Given the description of an element on the screen output the (x, y) to click on. 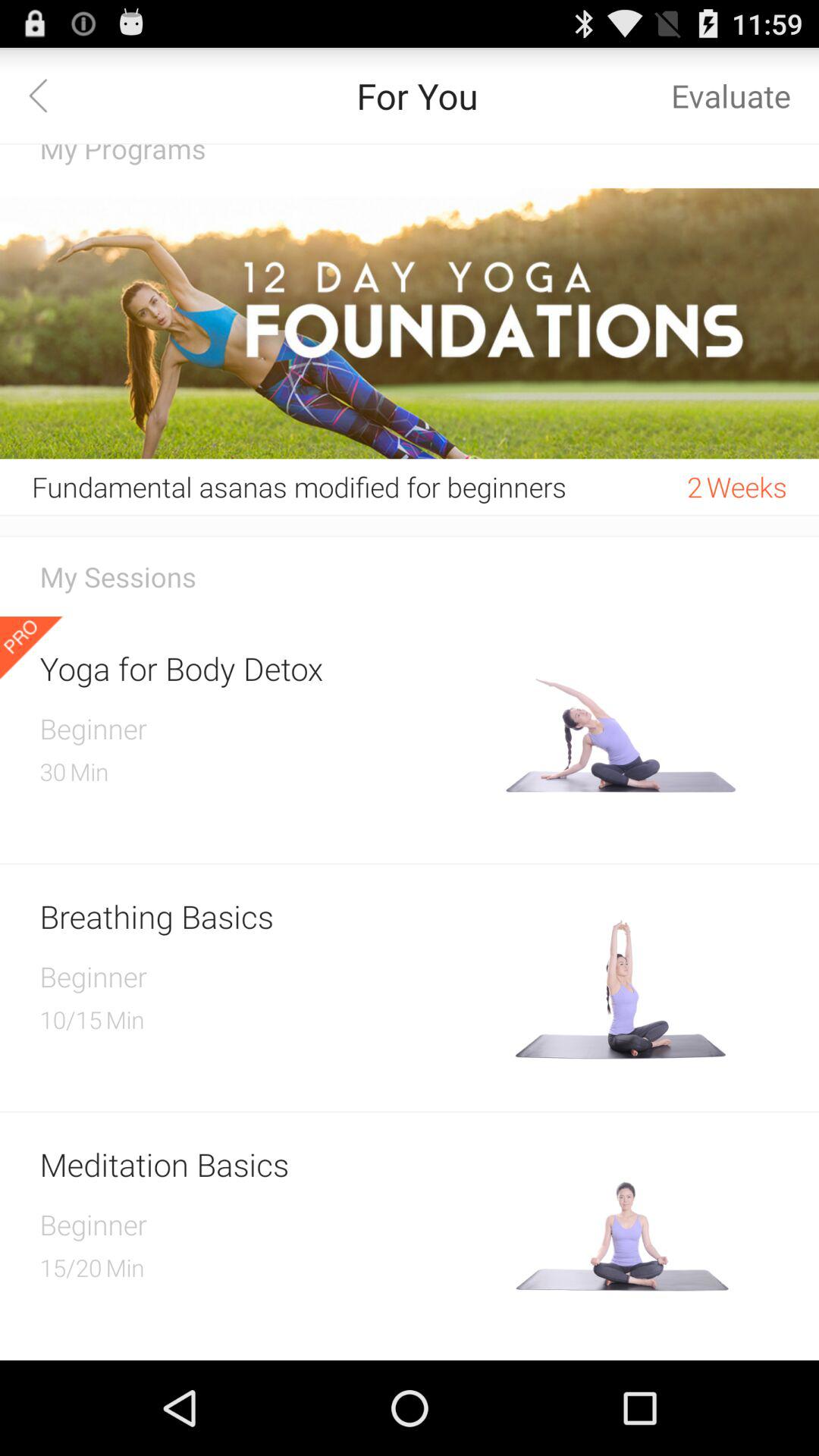
turn off the icon above beginner item (266, 667)
